Given the description of an element on the screen output the (x, y) to click on. 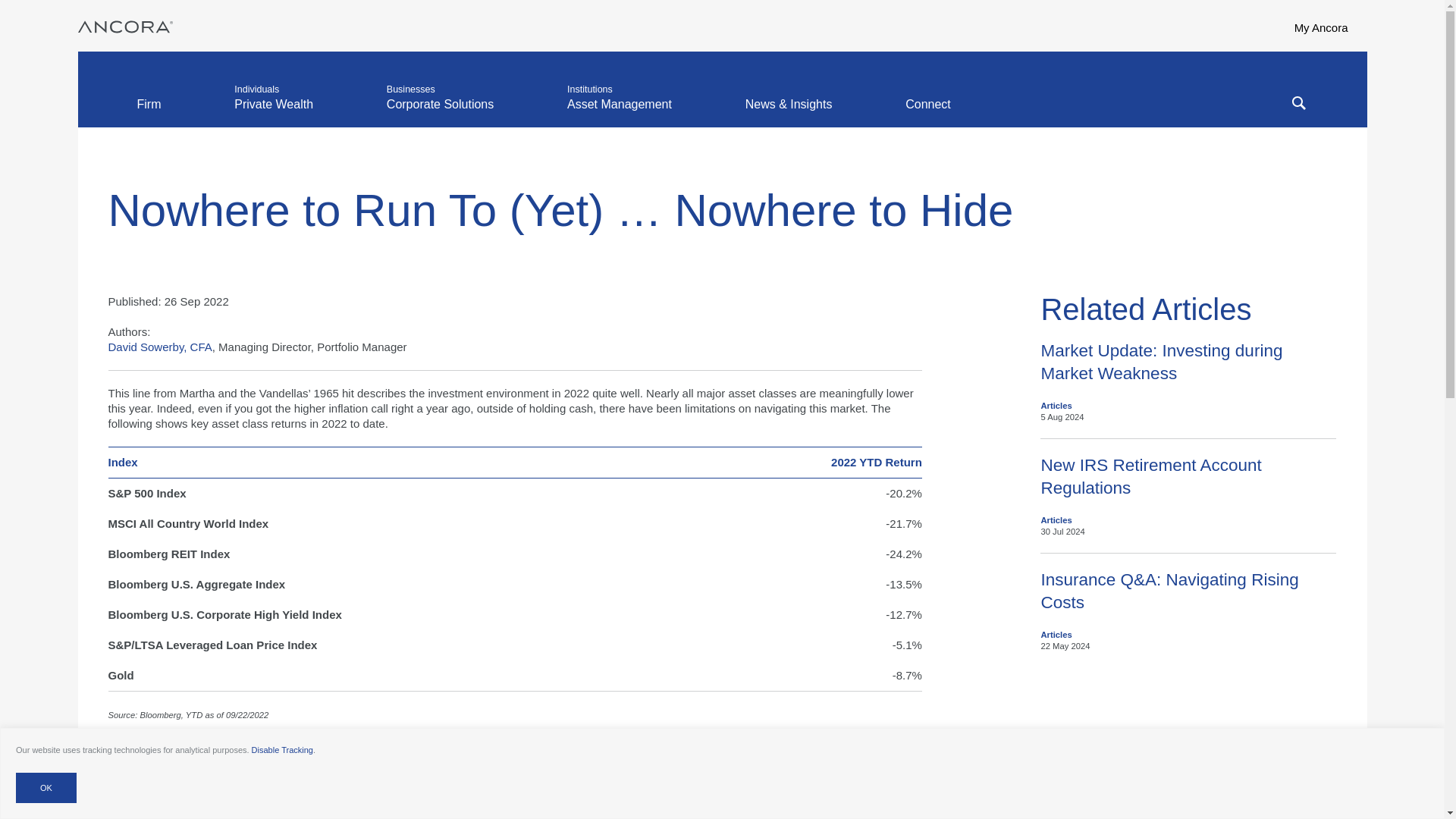
Asset Management (619, 111)
Firm (148, 111)
OK (46, 788)
My Ancora (1330, 25)
Businesses (439, 111)
Institutions (619, 111)
Individuals (273, 111)
Private Wealth (273, 111)
Corporate Solutions (439, 111)
